Given the description of an element on the screen output the (x, y) to click on. 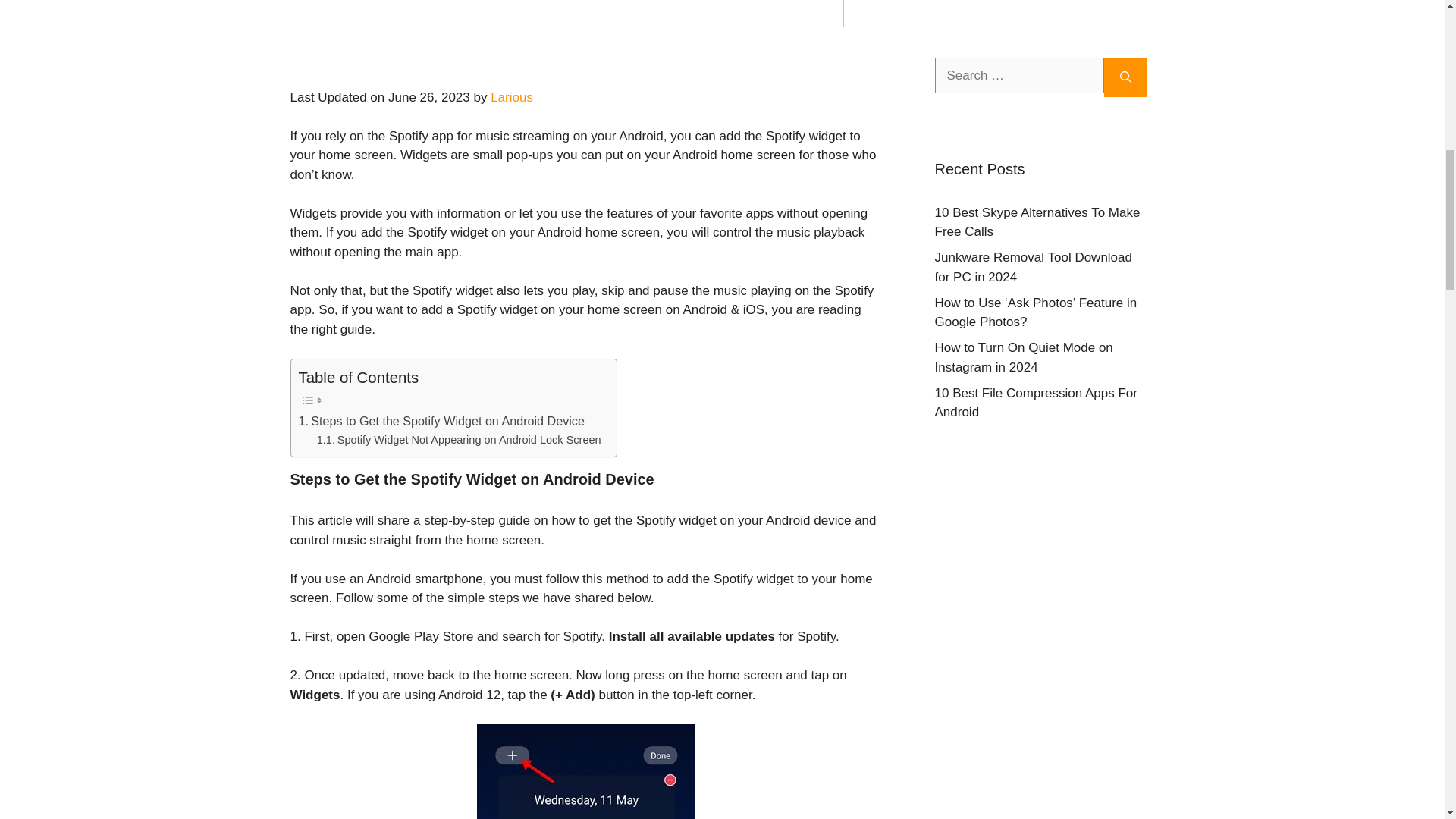
How to Get the Spotify Widget on Android 20 (585, 771)
Steps to Get the Spotify Widget on Android Device (441, 421)
Spotify Widget Not Appearing on Android Lock Screen (459, 439)
Spotify Widget Not Appearing on Android Lock Screen (459, 439)
Larious (511, 97)
10 Best Skype Alternatives To Make Free Calls (1037, 222)
Steps to Get the Spotify Widget on Android Device (441, 421)
